Given the description of an element on the screen output the (x, y) to click on. 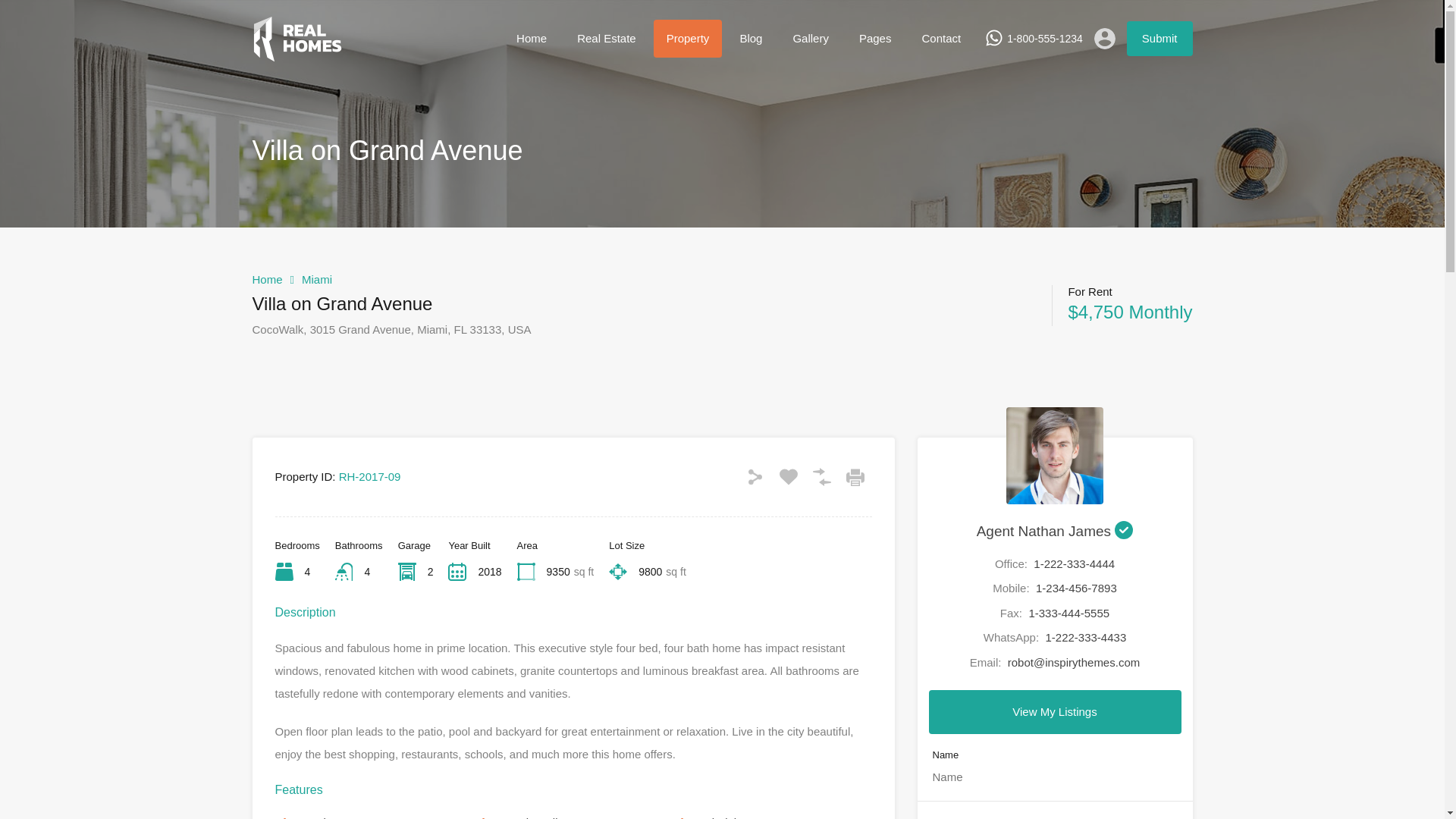
Modern 2 (296, 54)
Real Estate (606, 38)
Home (531, 38)
